Given the description of an element on the screen output the (x, y) to click on. 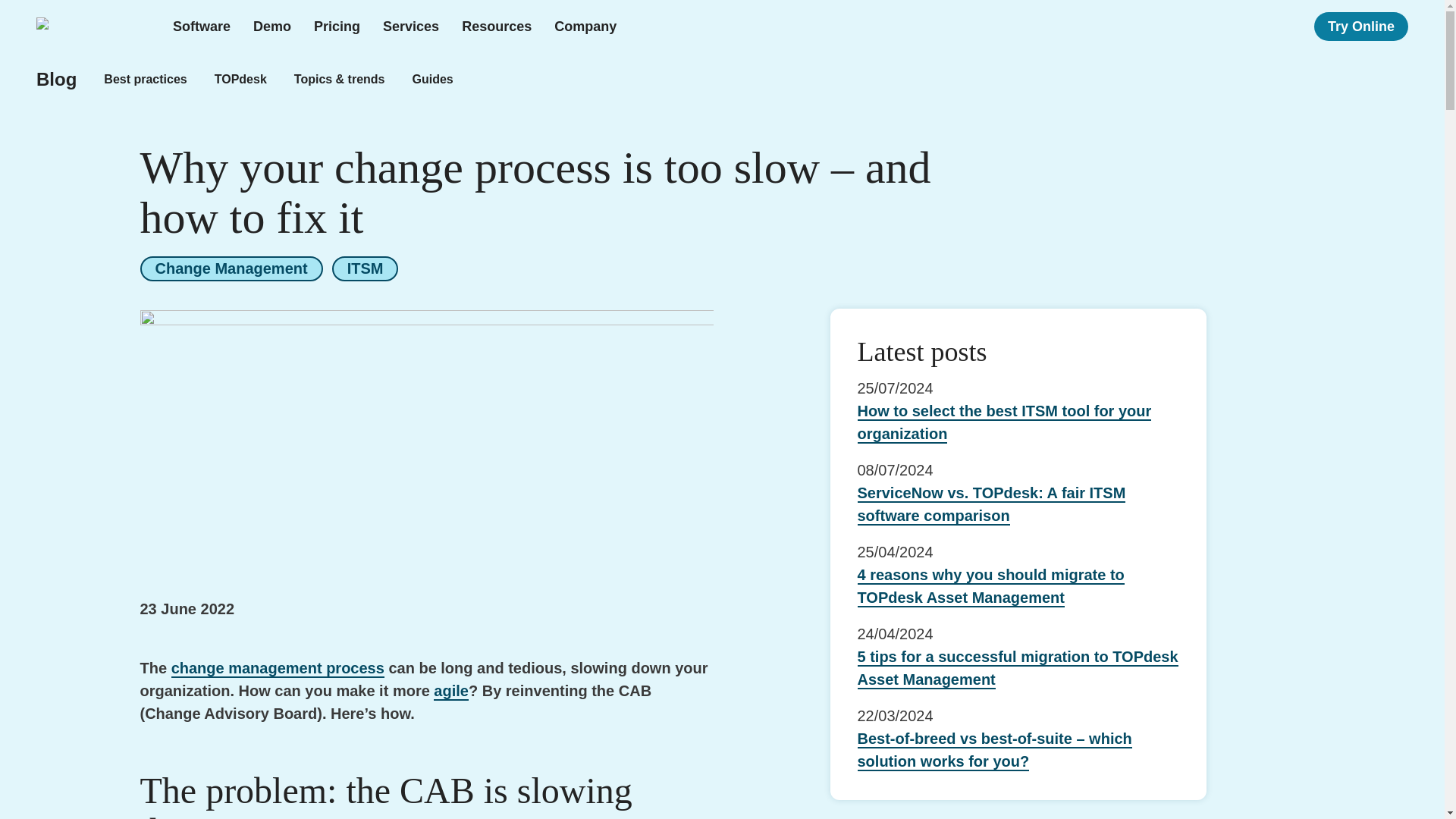
Company (584, 26)
ServiceNow vs. TOPdesk: A fair ITSM software comparison (991, 505)
Try Online (1360, 26)
4 reasons why you should migrate to TOPdesk Asset Management (990, 587)
Software (201, 26)
Resources (496, 26)
How to select the best ITSM tool for your organization (1004, 423)
Services (410, 26)
